Given the description of an element on the screen output the (x, y) to click on. 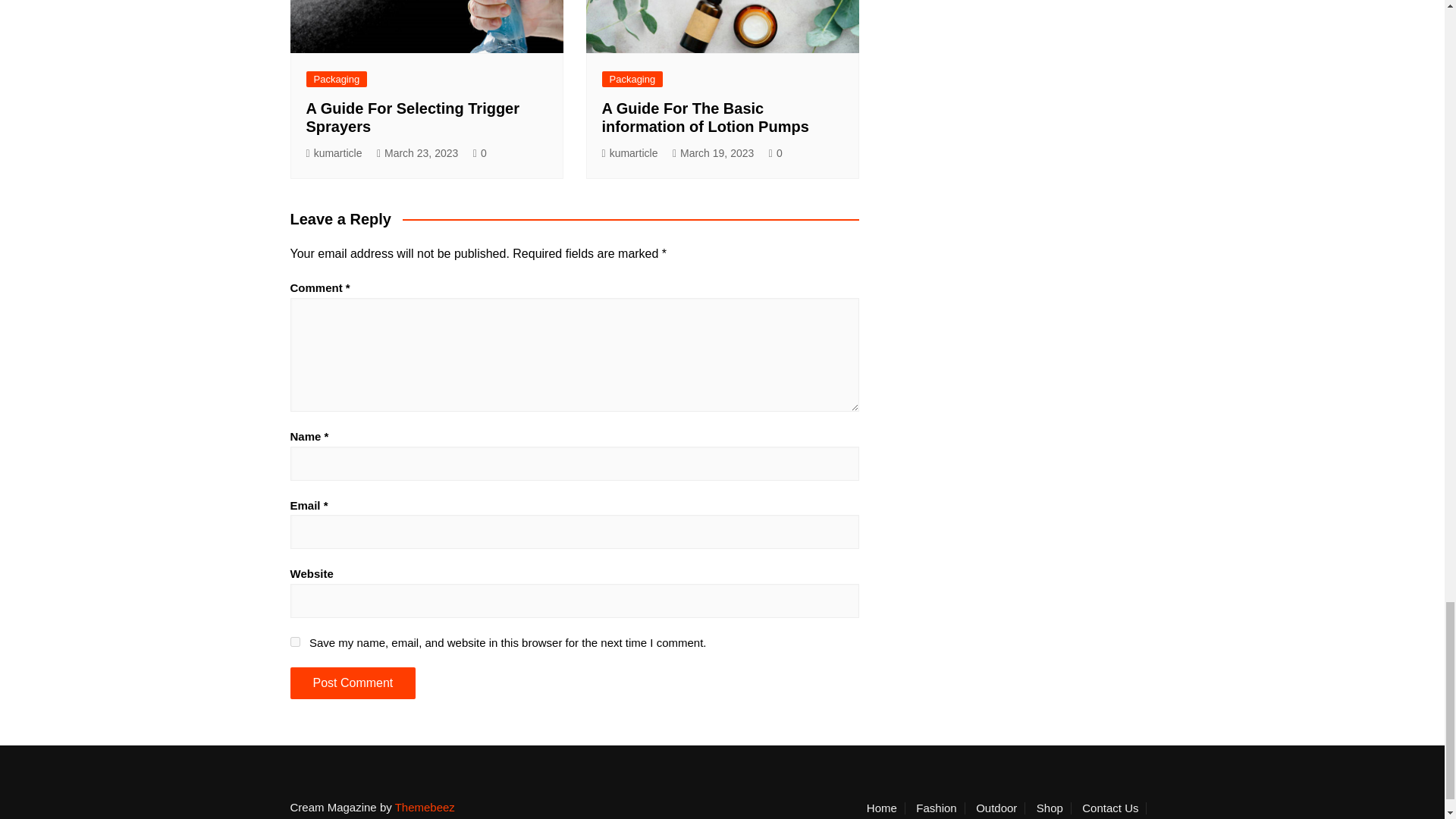
yes (294, 642)
Post Comment (351, 683)
